Given the description of an element on the screen output the (x, y) to click on. 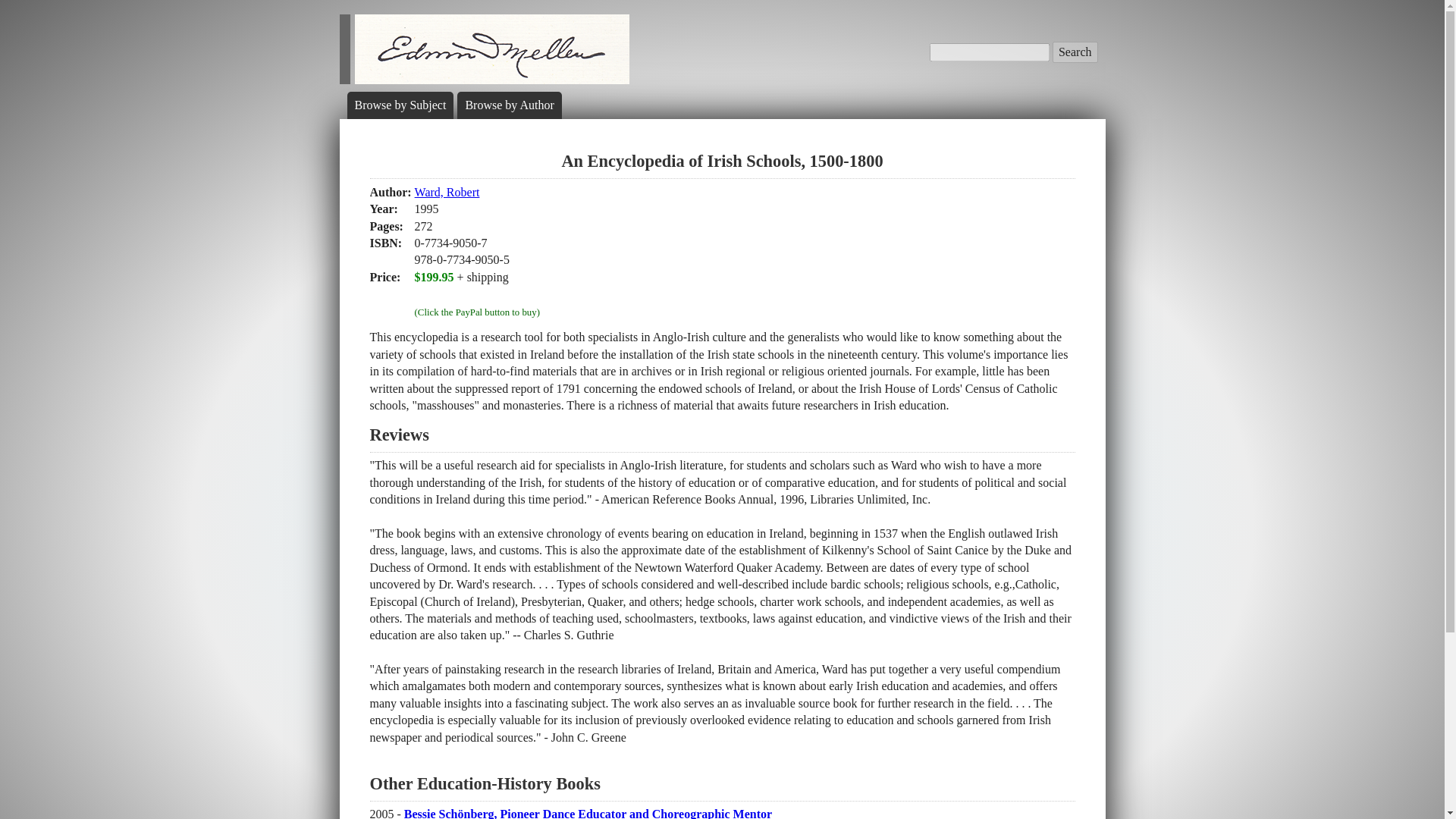
Ward, Robert (447, 192)
PayPal (477, 294)
Search (1074, 52)
Browse by Author (508, 105)
Browse by Subject (400, 105)
